Given the description of an element on the screen output the (x, y) to click on. 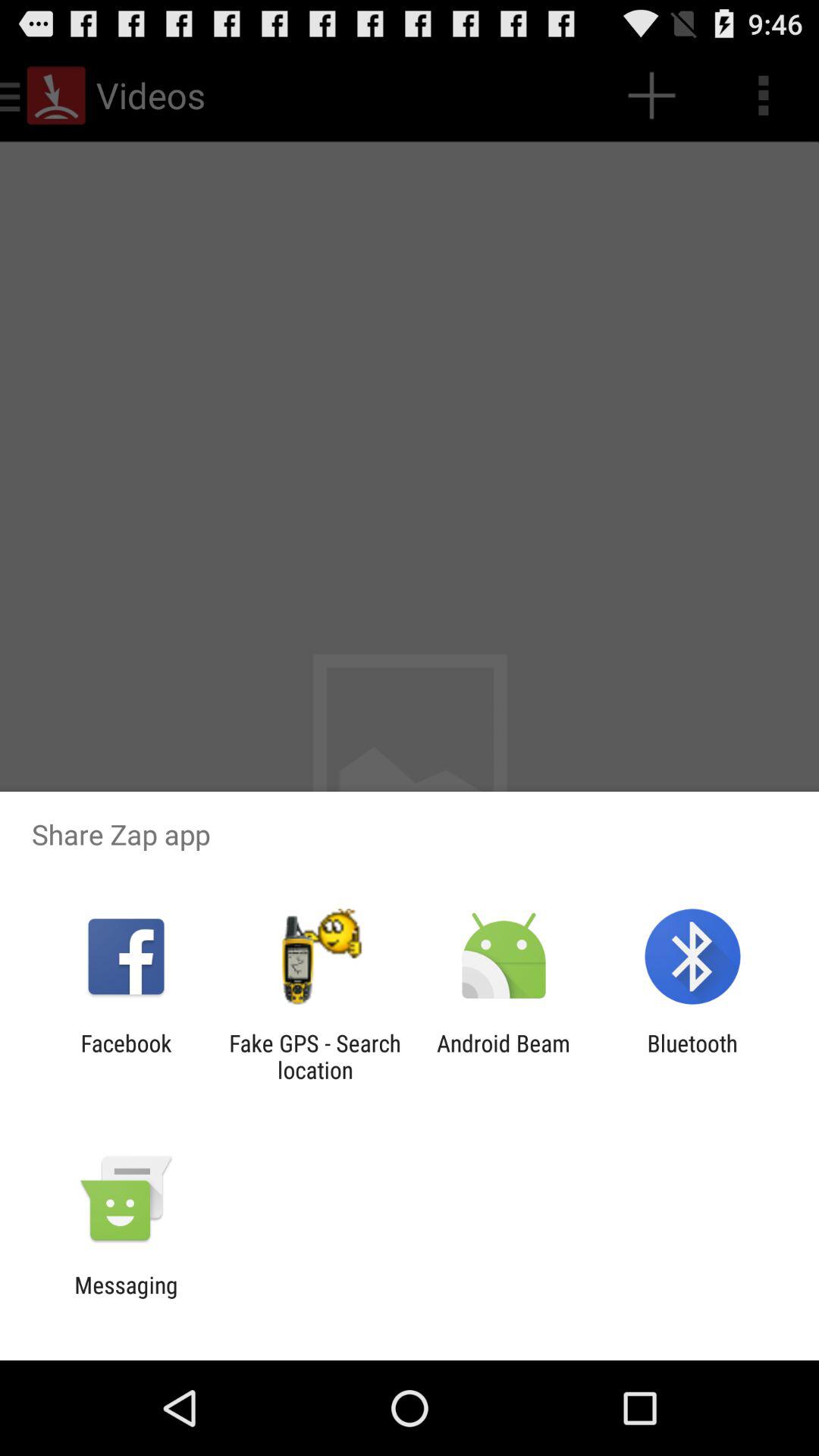
click the item to the right of the fake gps search item (503, 1056)
